Given the description of an element on the screen output the (x, y) to click on. 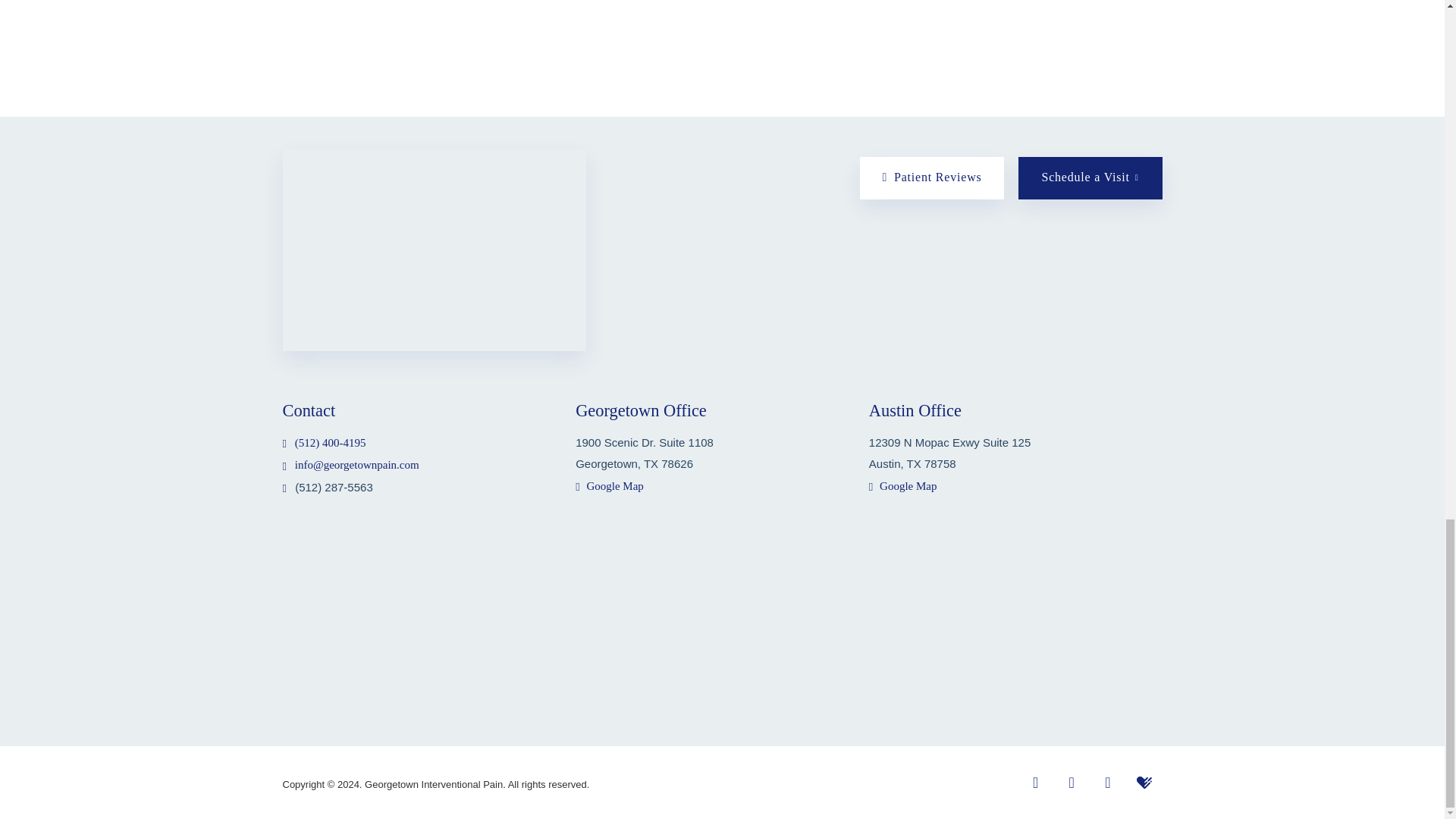
Google Map (609, 485)
Google Map (903, 485)
Austin Office (914, 410)
Schedule a Visit (1089, 178)
Patient Reviews (932, 178)
